Given the description of an element on the screen output the (x, y) to click on. 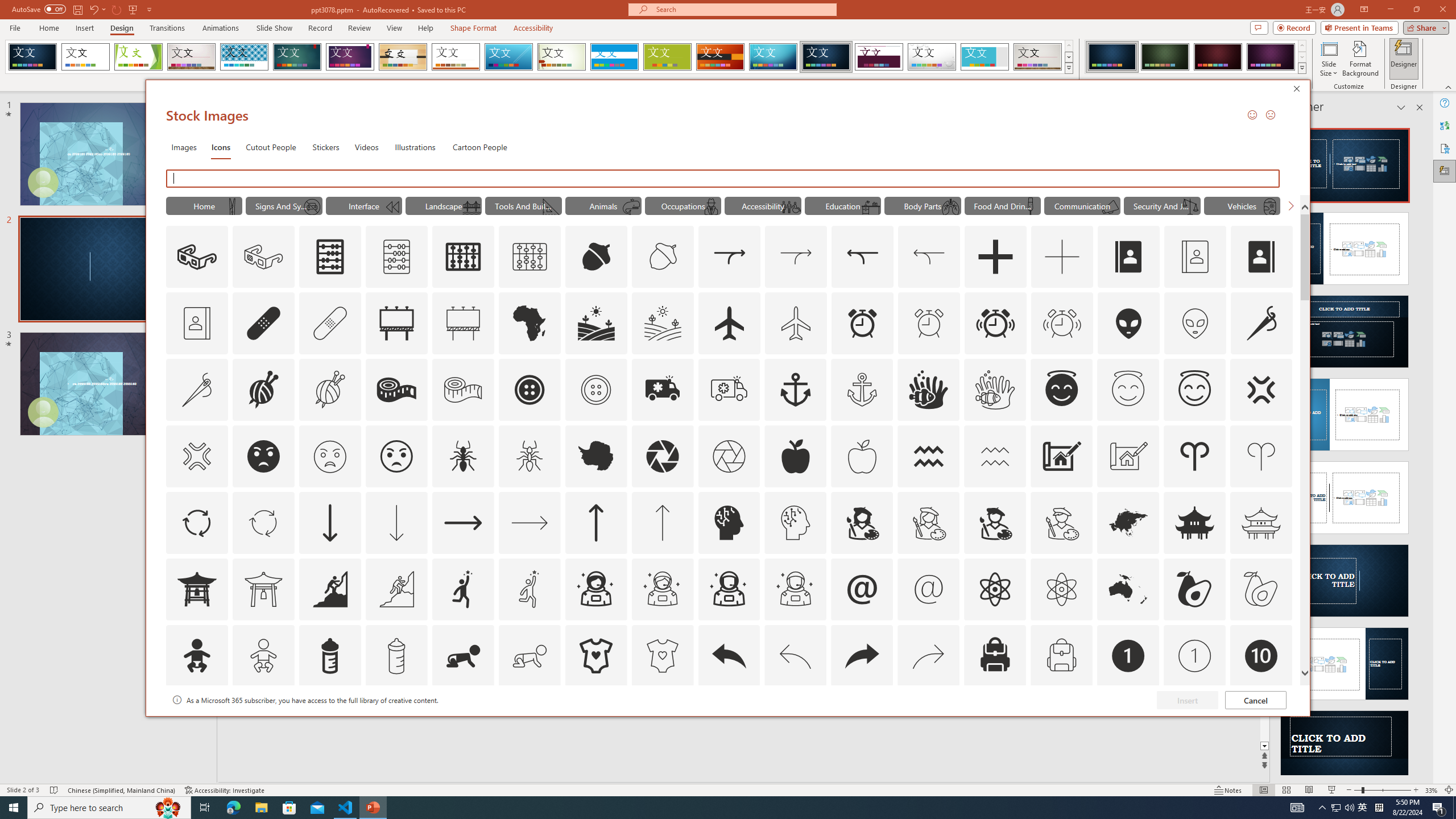
AutomationID: Icons_ArtistMale_M (1061, 522)
Illustrations (415, 146)
AutomationID: Icons_Ant_M (529, 455)
AutomationID: Icons_3dGlasses_M (263, 256)
AutomationID: Icons_Apple_M (861, 455)
